Given the description of an element on the screen output the (x, y) to click on. 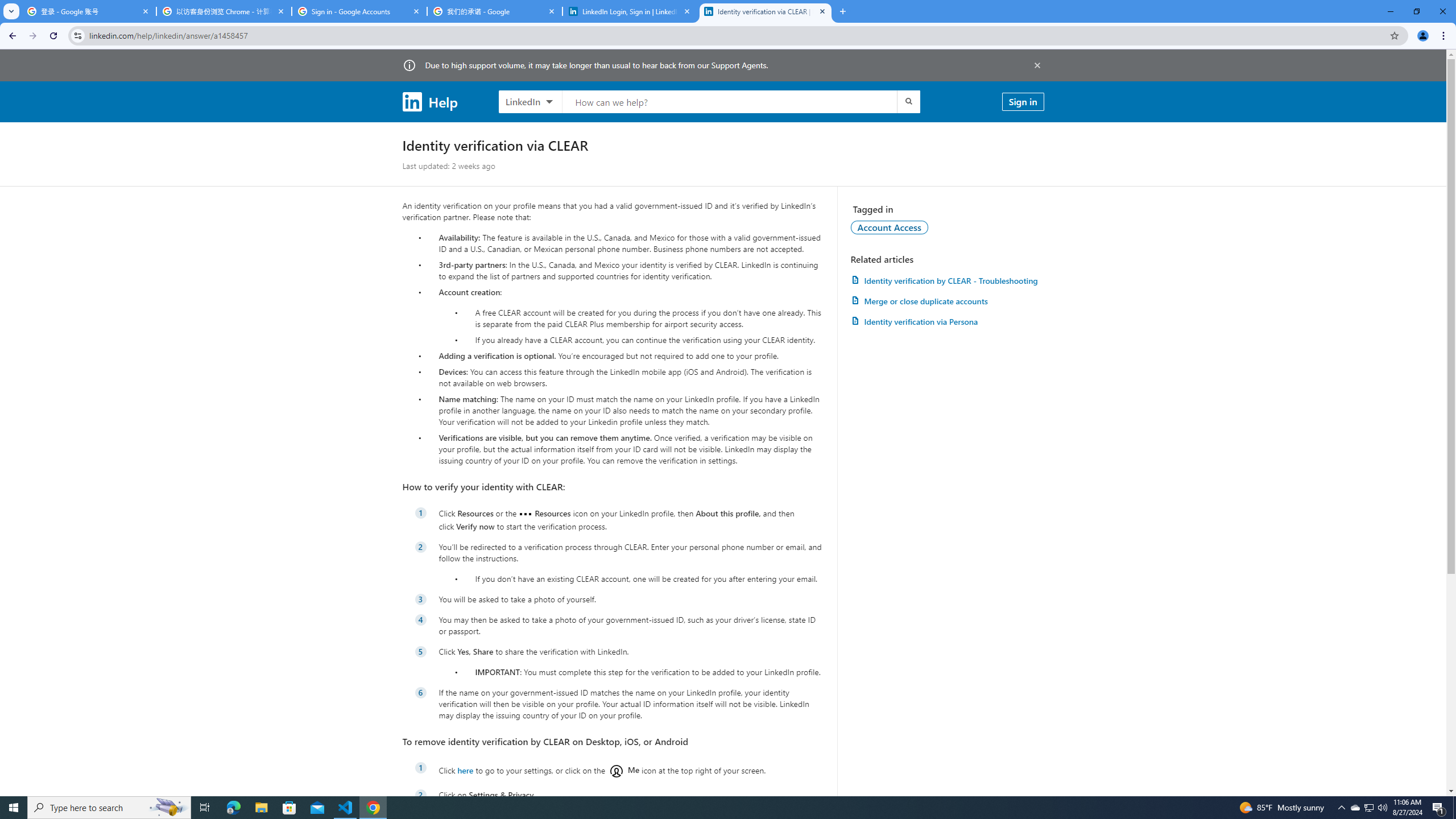
Merge or close duplicate accounts (946, 300)
AutomationID: topic-link-a151002 (889, 227)
AutomationID: article-link-a1457505 (946, 280)
Identity verification via Persona (946, 321)
here (465, 769)
Sign in - Google Accounts (359, 11)
